Given the description of an element on the screen output the (x, y) to click on. 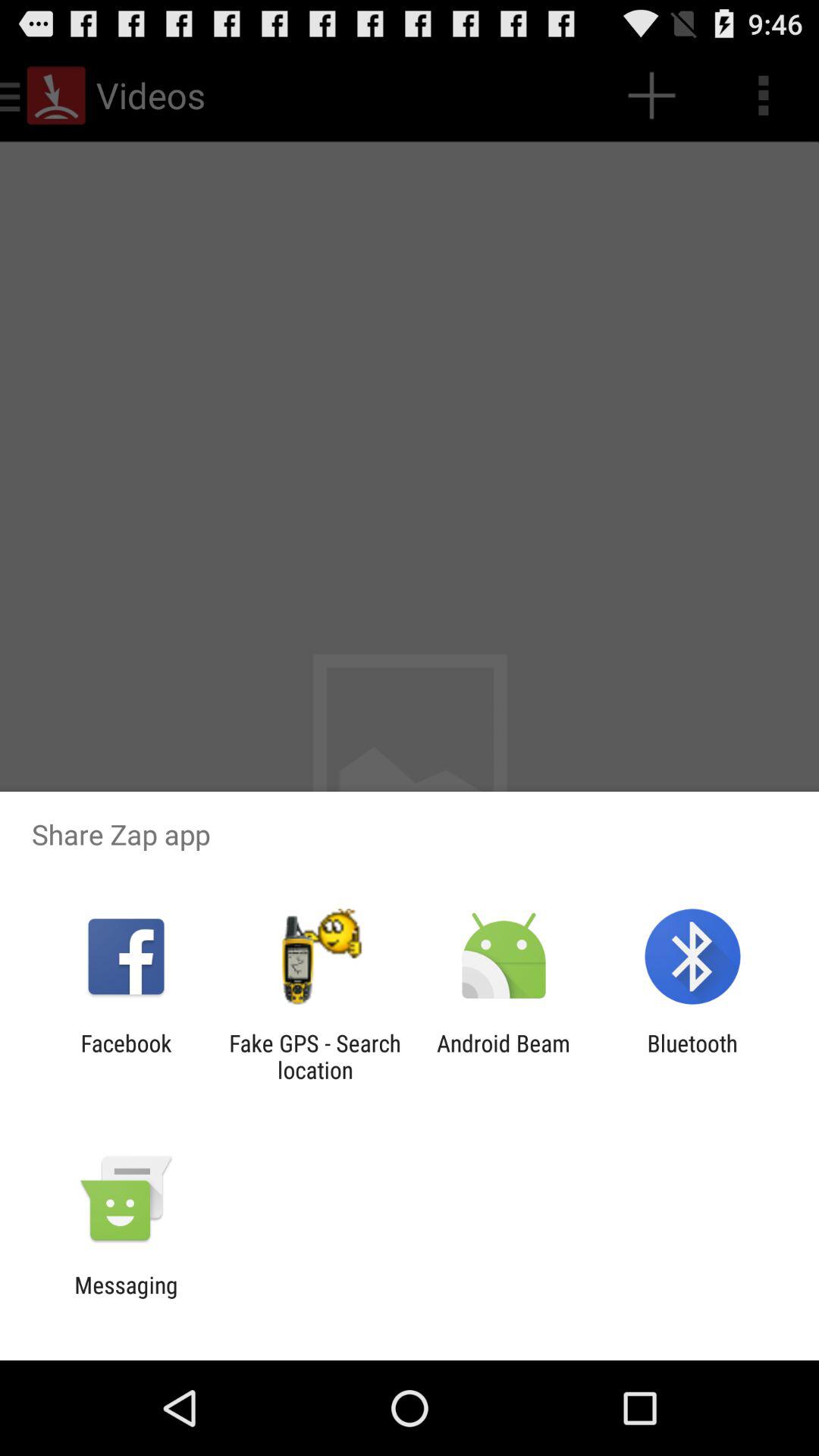
scroll to android beam app (503, 1056)
